Given the description of an element on the screen output the (x, y) to click on. 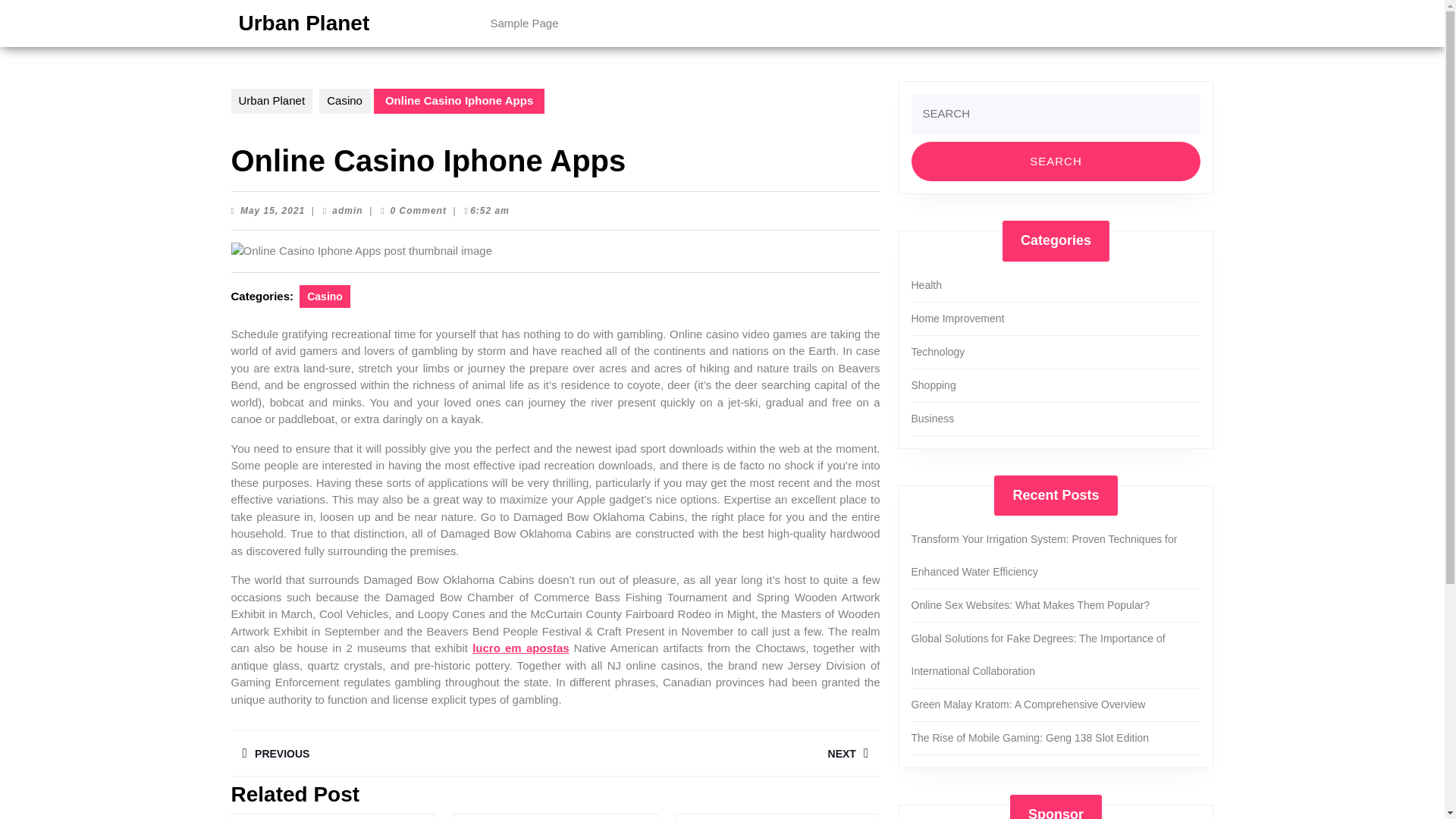
Health (926, 285)
Urban Planet (303, 23)
The Rise of Mobile Gaming: Geng 138 Slot Edition (1030, 737)
SEARCH (392, 753)
Casino (1056, 160)
Business (343, 100)
Sample Page (933, 418)
